Given the description of an element on the screen output the (x, y) to click on. 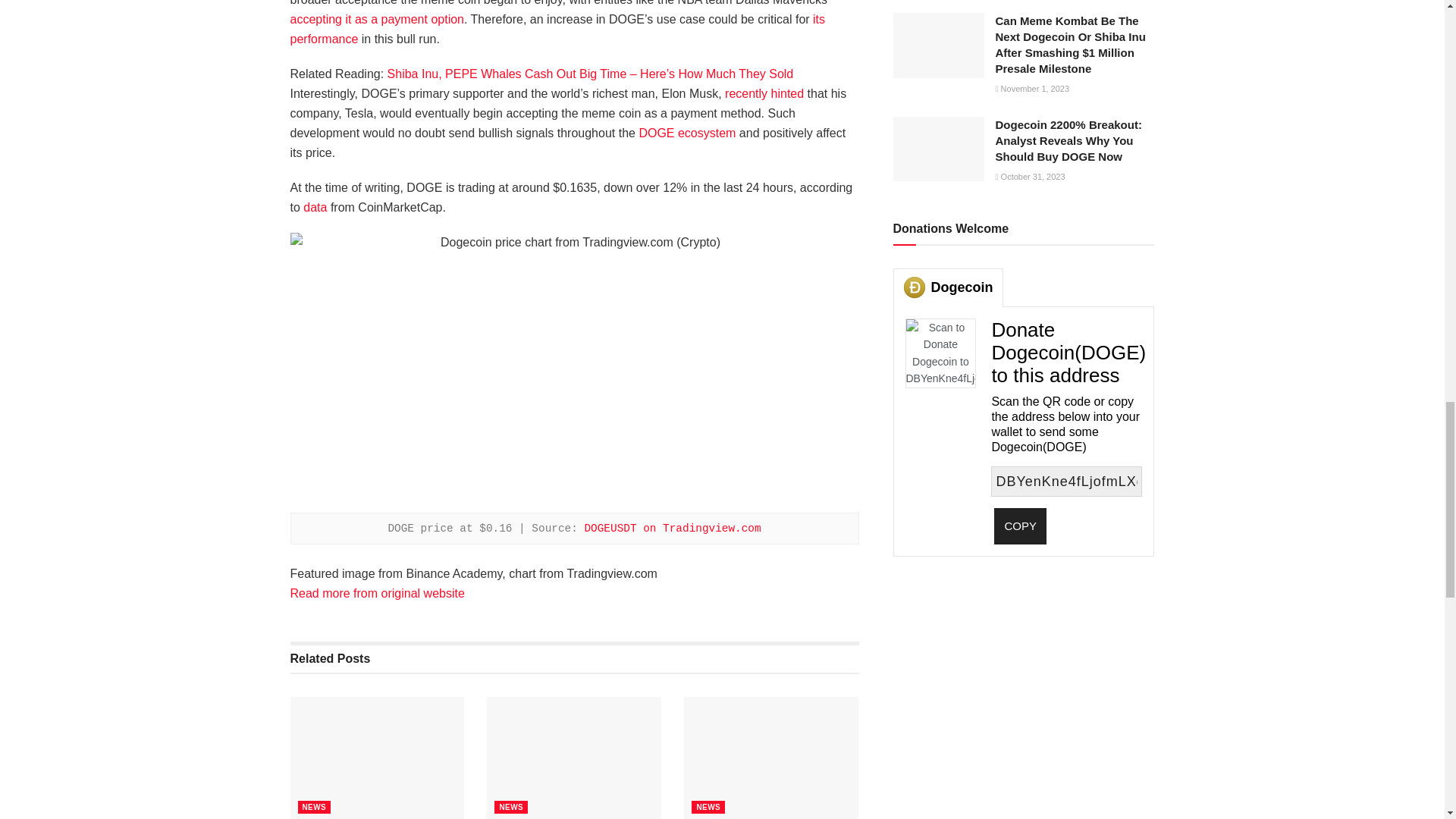
DBYenKne4fLjofmLXdruaqvAeLyFek4LEf (1066, 481)
